Given the description of an element on the screen output the (x, y) to click on. 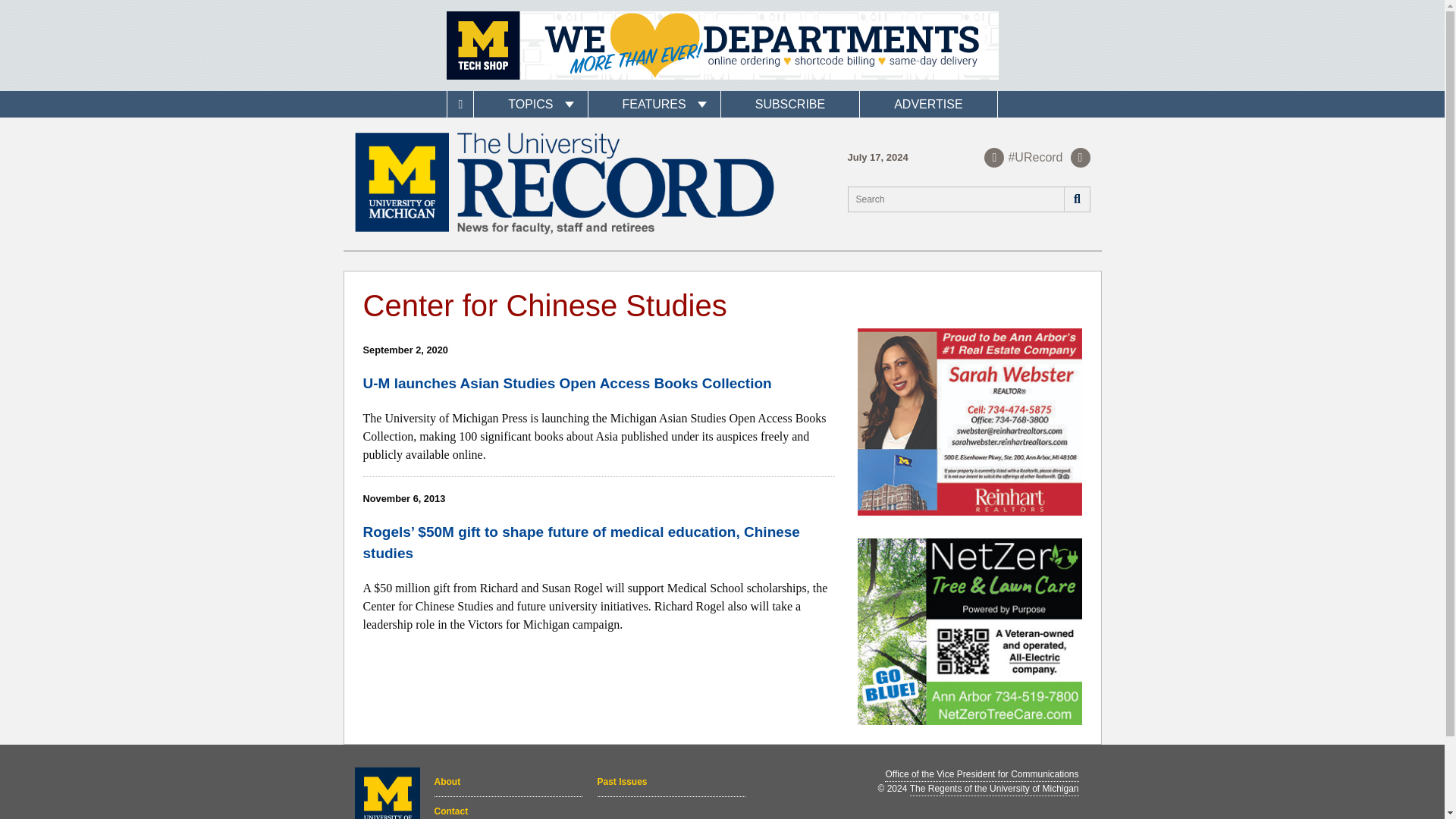
SUBSCRIBE (789, 103)
The University Record (564, 183)
RSS Feed (1080, 156)
Search (1075, 198)
RSS (1080, 156)
HOME (459, 103)
U-M launches Asian Studies Open Access Books Collection (566, 383)
Search for: (968, 199)
TOPICS (530, 103)
ADVERTISE (927, 103)
FEATURES (654, 103)
